Given the description of an element on the screen output the (x, y) to click on. 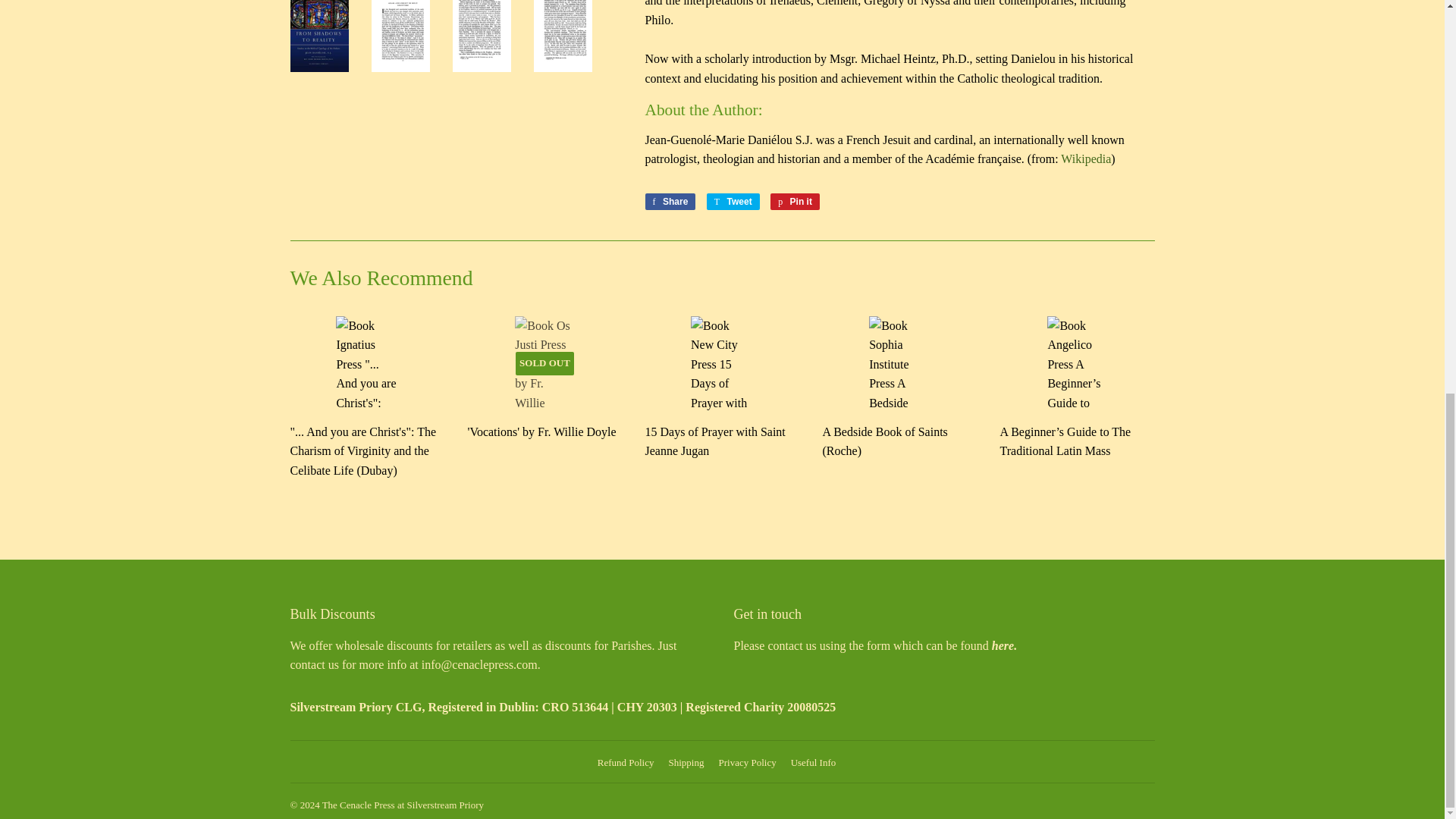
Share on Facebook (670, 201)
Tweet on Twitter (733, 201)
Pin on Pinterest (794, 201)
